Given the description of an element on the screen output the (x, y) to click on. 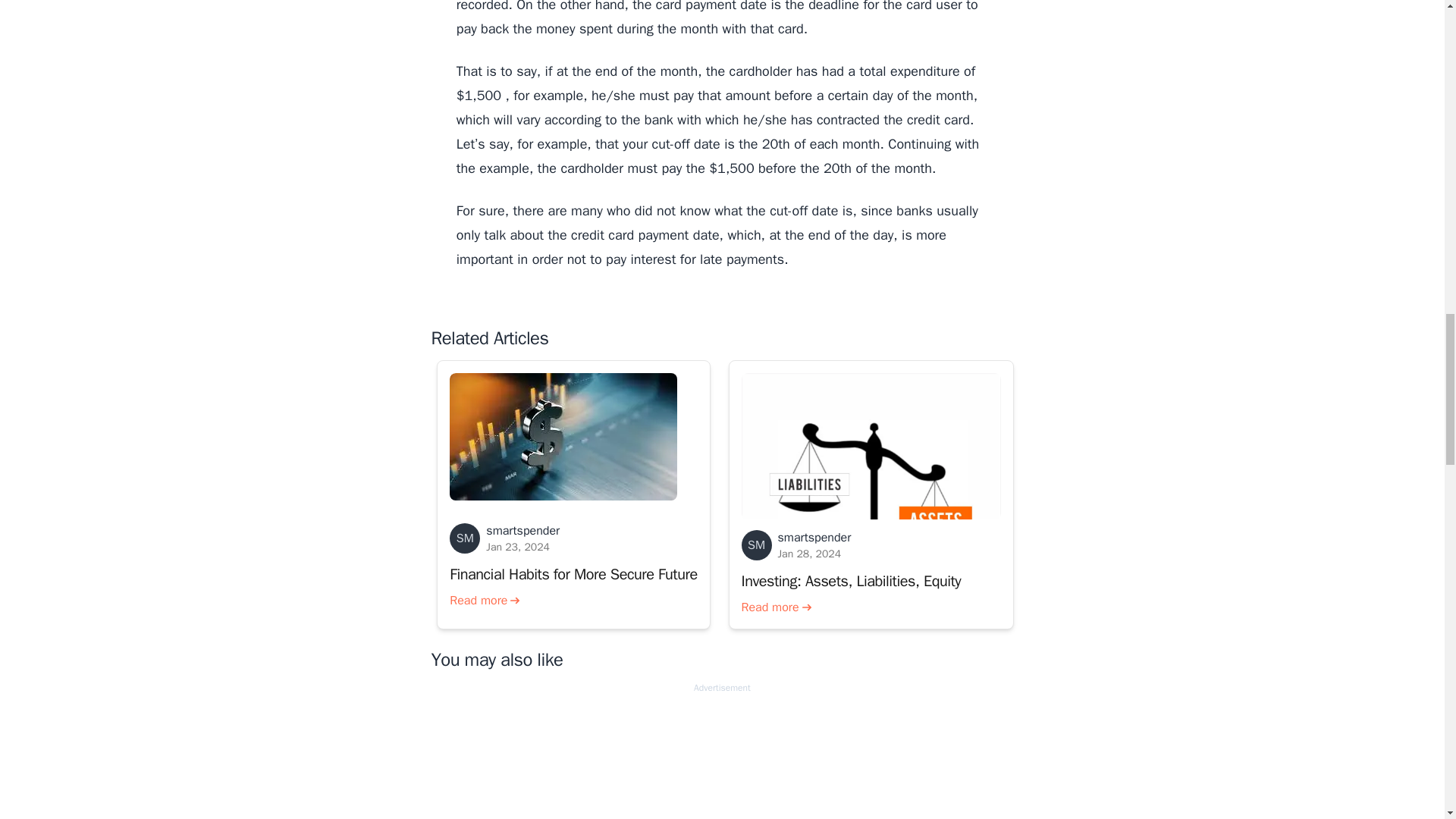
Read more (796, 584)
Financial Habits for More Secure Future (573, 574)
Read more (484, 600)
Investing: Assets, Liabilities, Equity (871, 558)
